Given the description of an element on the screen output the (x, y) to click on. 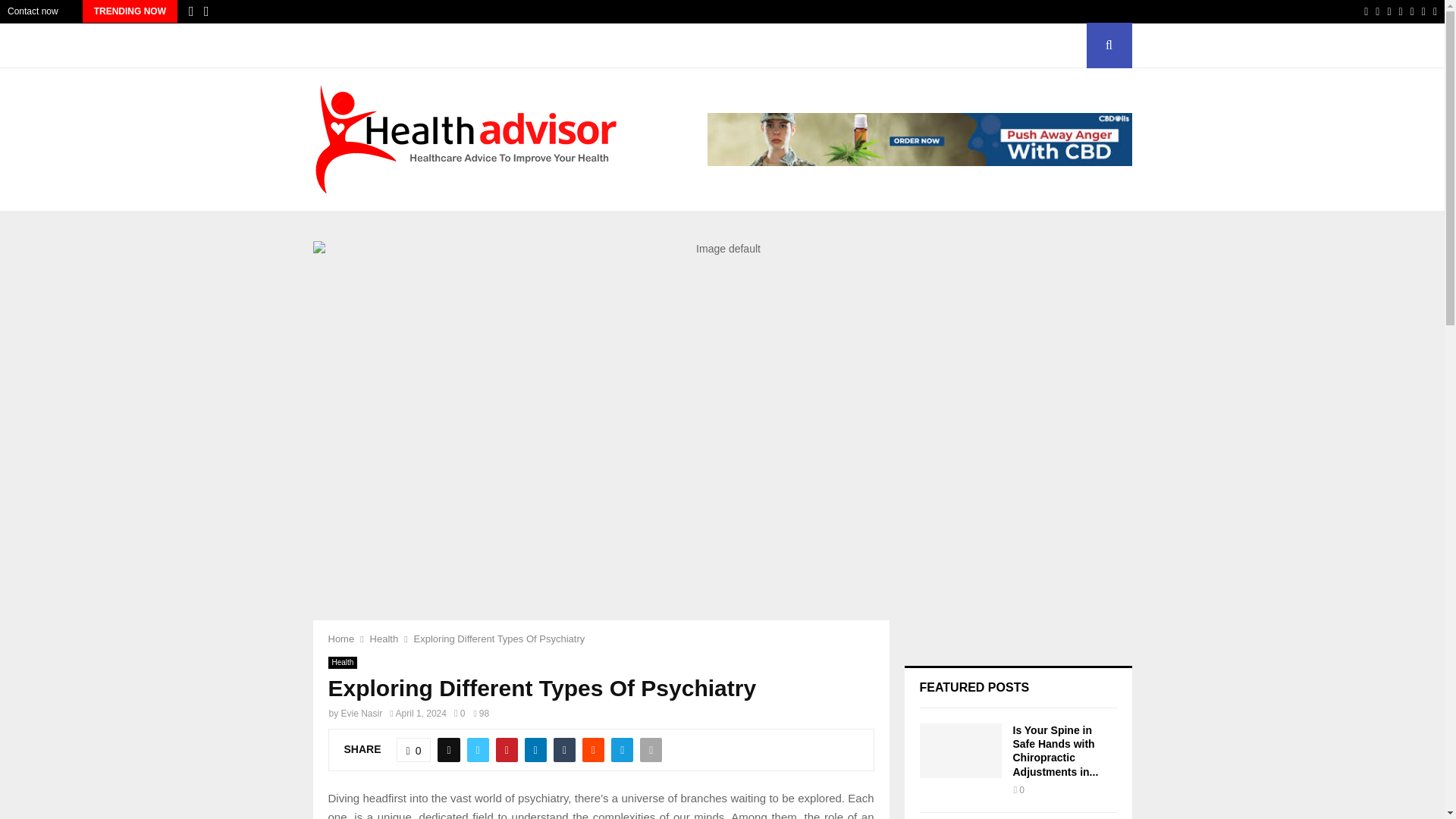
WEIGHT LOSS (802, 44)
DOCTOR (459, 44)
HEALTH (591, 44)
SKIN CARE (718, 44)
Health (383, 638)
Home (340, 638)
FITNESS (523, 44)
Like (413, 749)
Contact now (32, 11)
DIET TIPS (391, 44)
